Given the description of an element on the screen output the (x, y) to click on. 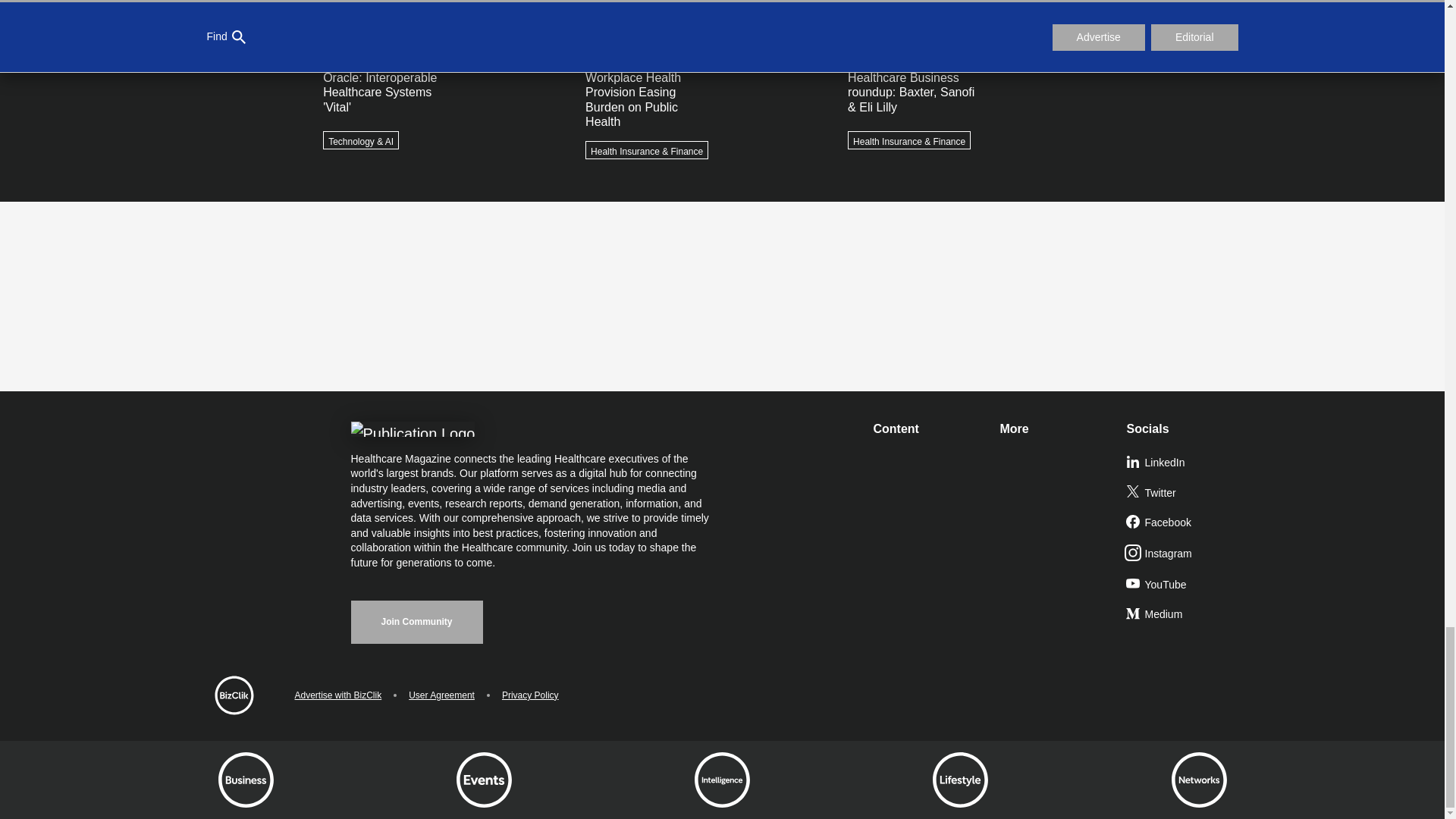
LinkedIn (1182, 462)
Join Community (415, 621)
Facebook (1182, 522)
Twitter (1182, 493)
